Given the description of an element on the screen output the (x, y) to click on. 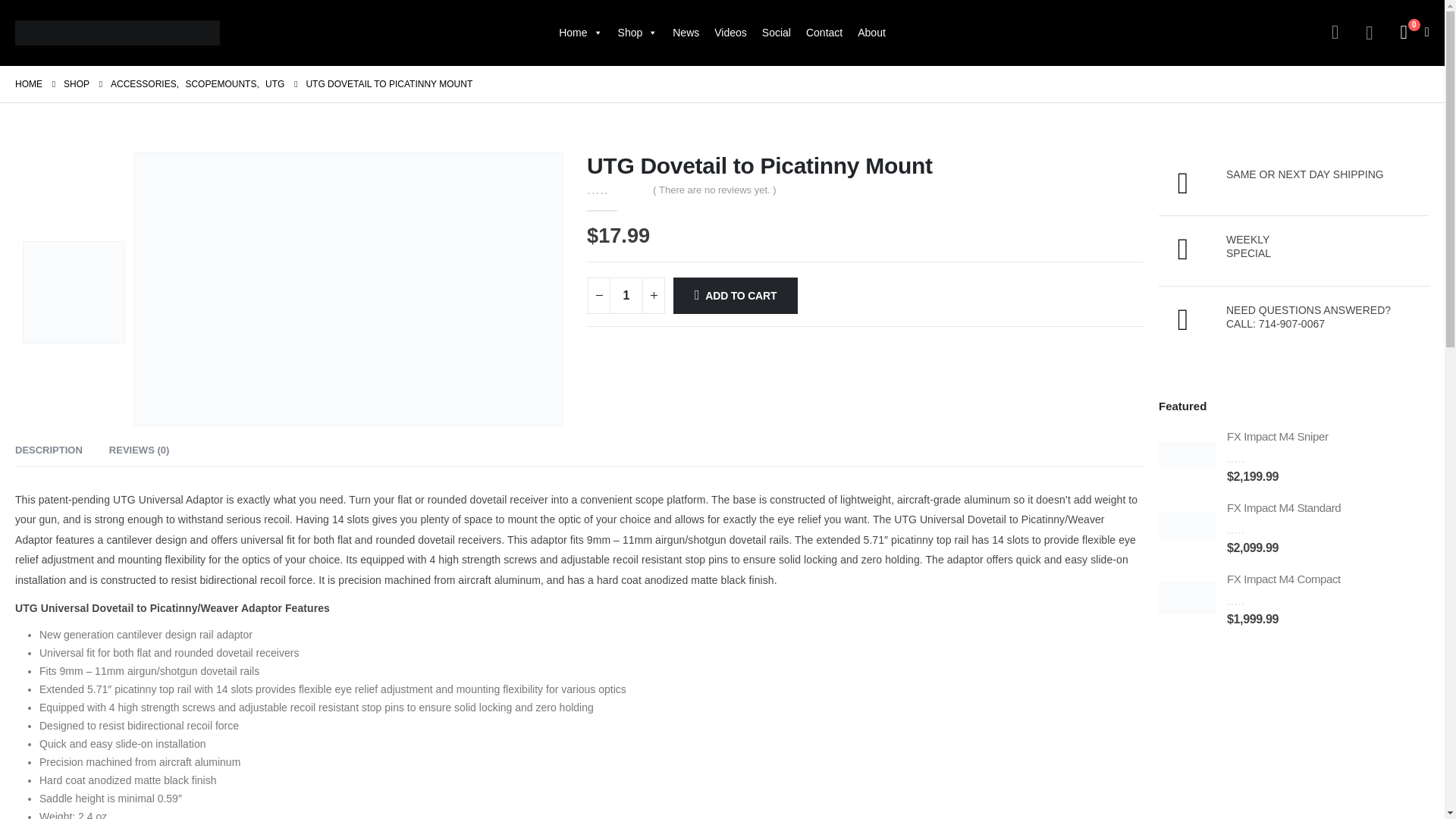
0 (616, 189)
Shop (637, 32)
Go to Home Page (28, 84)
Contact (823, 32)
Social (775, 32)
News (685, 32)
My Account (1334, 32)
1 (626, 295)
Home (580, 32)
Videos (730, 32)
